Given the description of an element on the screen output the (x, y) to click on. 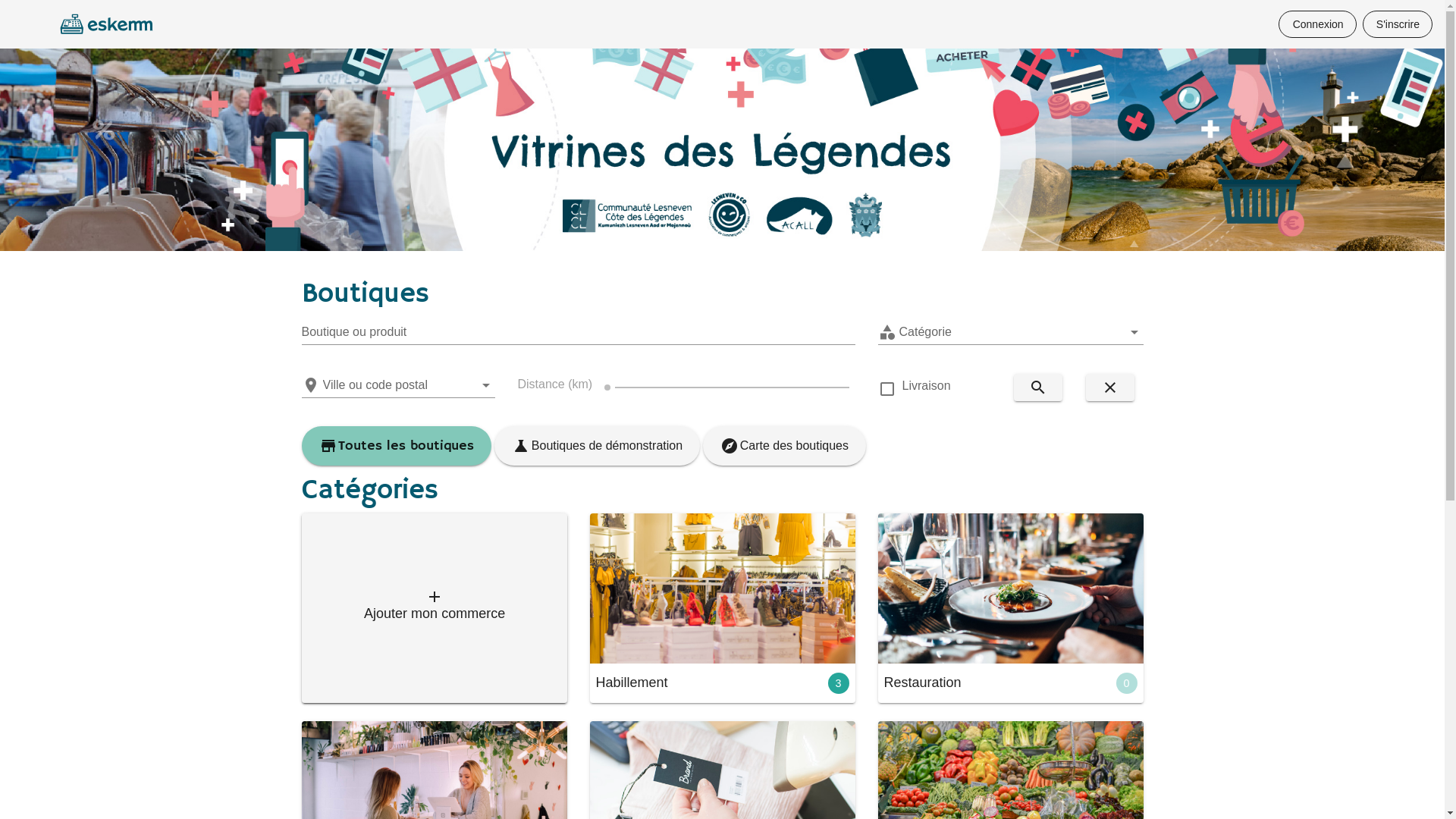
S'inscrire Element type: text (1397, 23)
explore
Carte des boutiques Element type: text (784, 445)
Connexion Element type: text (1316, 23)
Boutiques Element type: text (365, 294)
store
Toutes les boutiques Element type: text (396, 445)
Restauration
0 Element type: text (1010, 607)
add
Ajouter mon commerce Element type: text (434, 607)
Habillement
3 Element type: text (722, 607)
clear Element type: text (1109, 387)
search Element type: text (1037, 387)
